Given the description of an element on the screen output the (x, y) to click on. 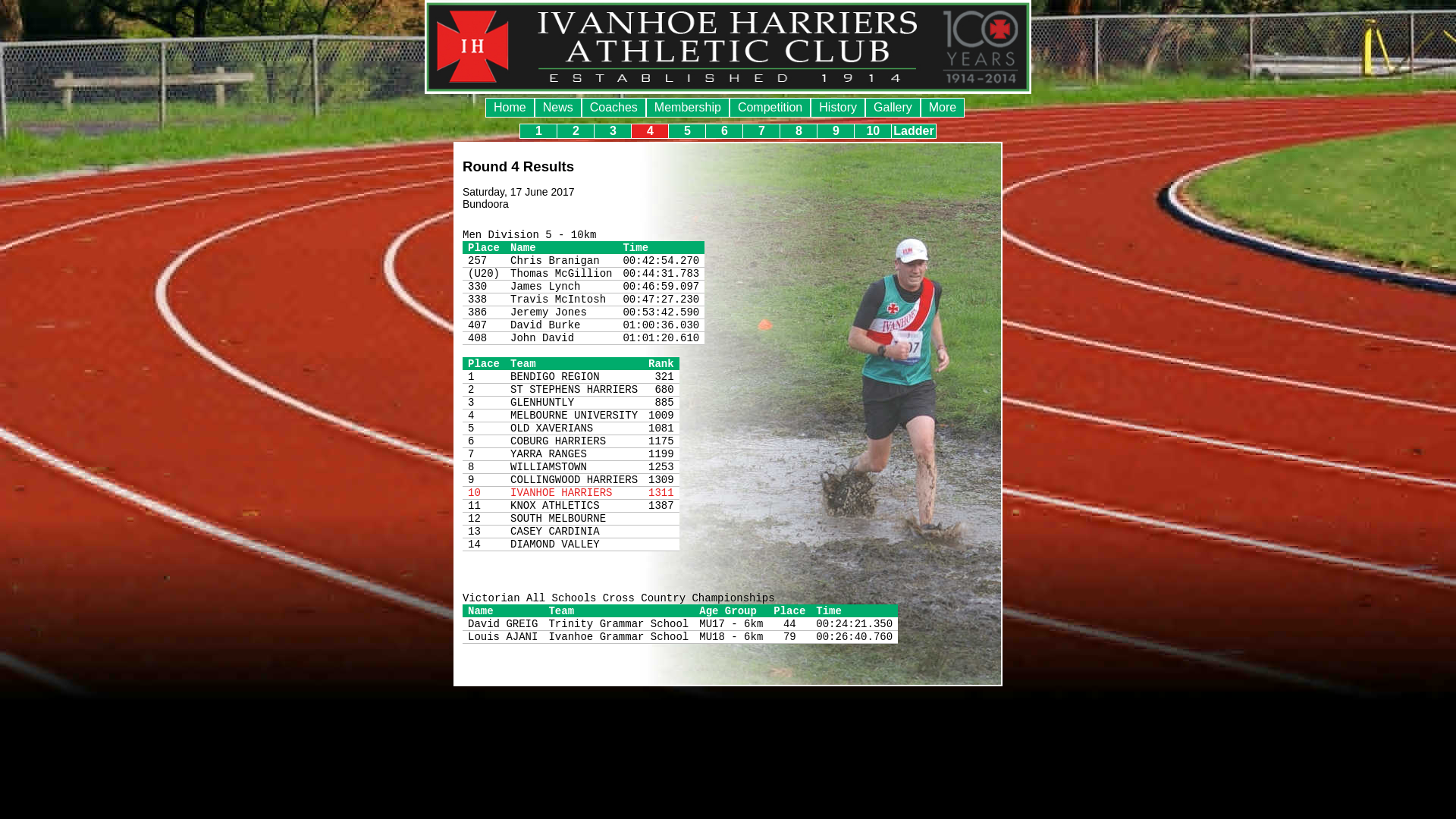
1 Element type: text (538, 131)
4 Element type: text (649, 131)
10 Element type: text (872, 131)
History Element type: text (837, 107)
Gallery Element type: text (892, 107)
8 Element type: text (798, 131)
Competition Element type: text (769, 107)
3 Element type: text (612, 131)
News Element type: text (557, 107)
Coaches Element type: text (613, 107)
5 Element type: text (686, 131)
Membership Element type: text (687, 107)
2 Element type: text (575, 131)
Ladder Element type: text (913, 131)
Home Element type: text (509, 107)
9 Element type: text (835, 131)
6 Element type: text (724, 131)
7 Element type: text (761, 131)
More Element type: text (942, 107)
